Given the description of an element on the screen output the (x, y) to click on. 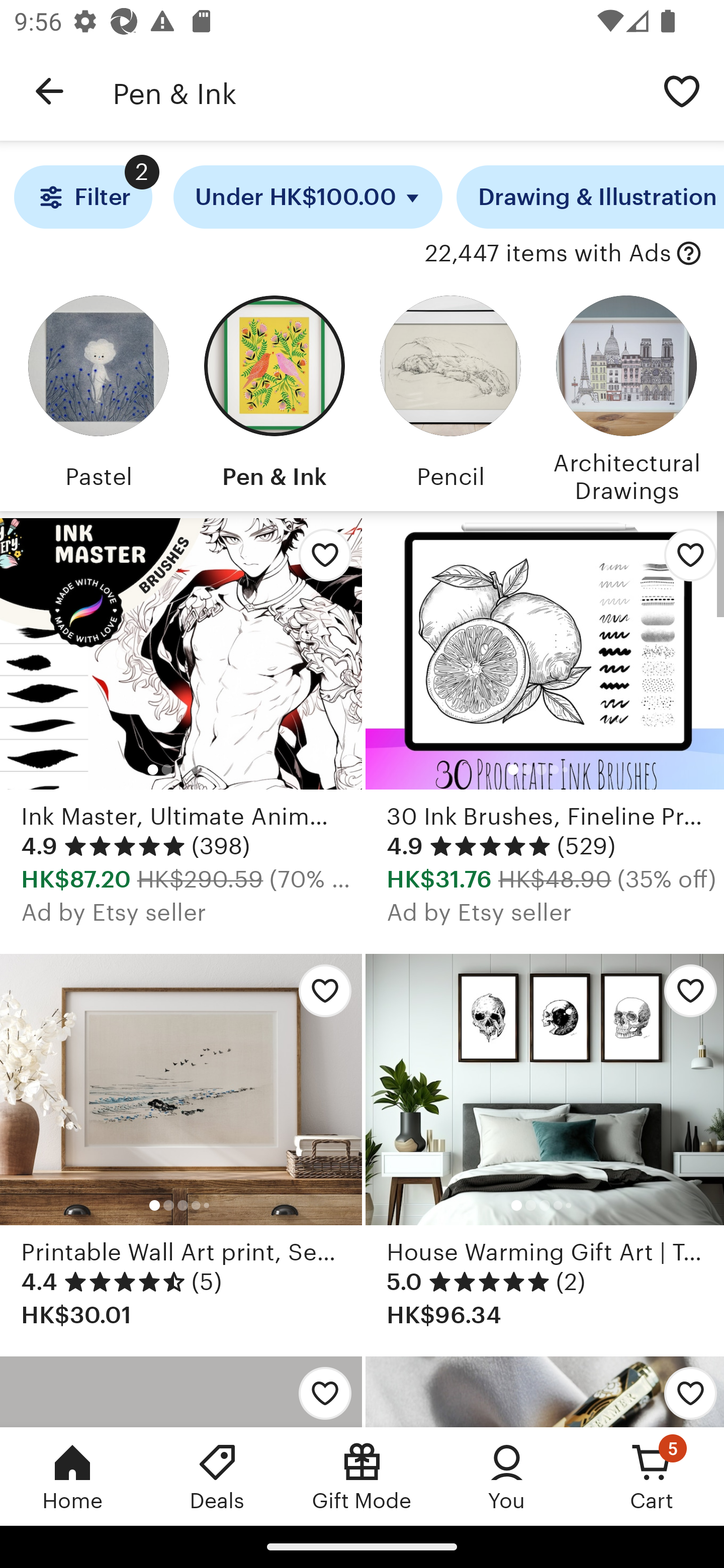
Navigate up (49, 91)
Save search (681, 90)
Pen & Ink (375, 91)
Filter (82, 197)
Under HK$100.00 (307, 197)
Drawing & Illustration (590, 197)
22,447 items with Ads (547, 253)
with Ads (688, 253)
Pastel (97, 395)
Pen & Ink (273, 395)
Pencil (449, 395)
Architectural Drawings (625, 395)
Add Pen & Ink Designs by Faye :) to favorites (319, 1391)
Add Daydreamer Pen Black to favorites (683, 1391)
Deals (216, 1475)
Gift Mode (361, 1475)
You (506, 1475)
Cart, 5 new notifications Cart (651, 1475)
